Given the description of an element on the screen output the (x, y) to click on. 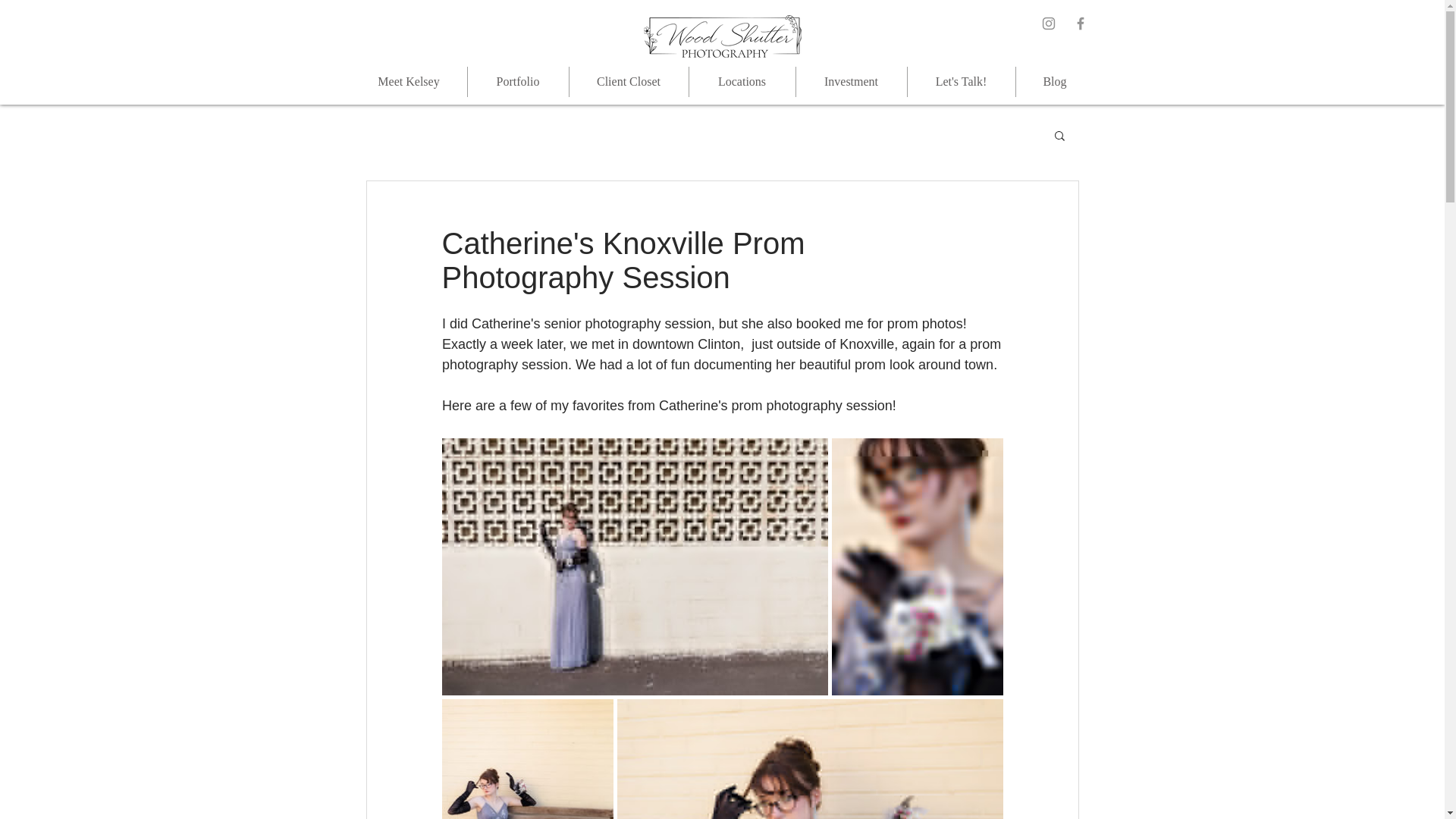
Portfolio (517, 81)
Let's Talk! (960, 81)
Investment (851, 81)
Blog (1055, 81)
Locations (741, 81)
Client Closet (628, 81)
Meet Kelsey (407, 81)
